Given the description of an element on the screen output the (x, y) to click on. 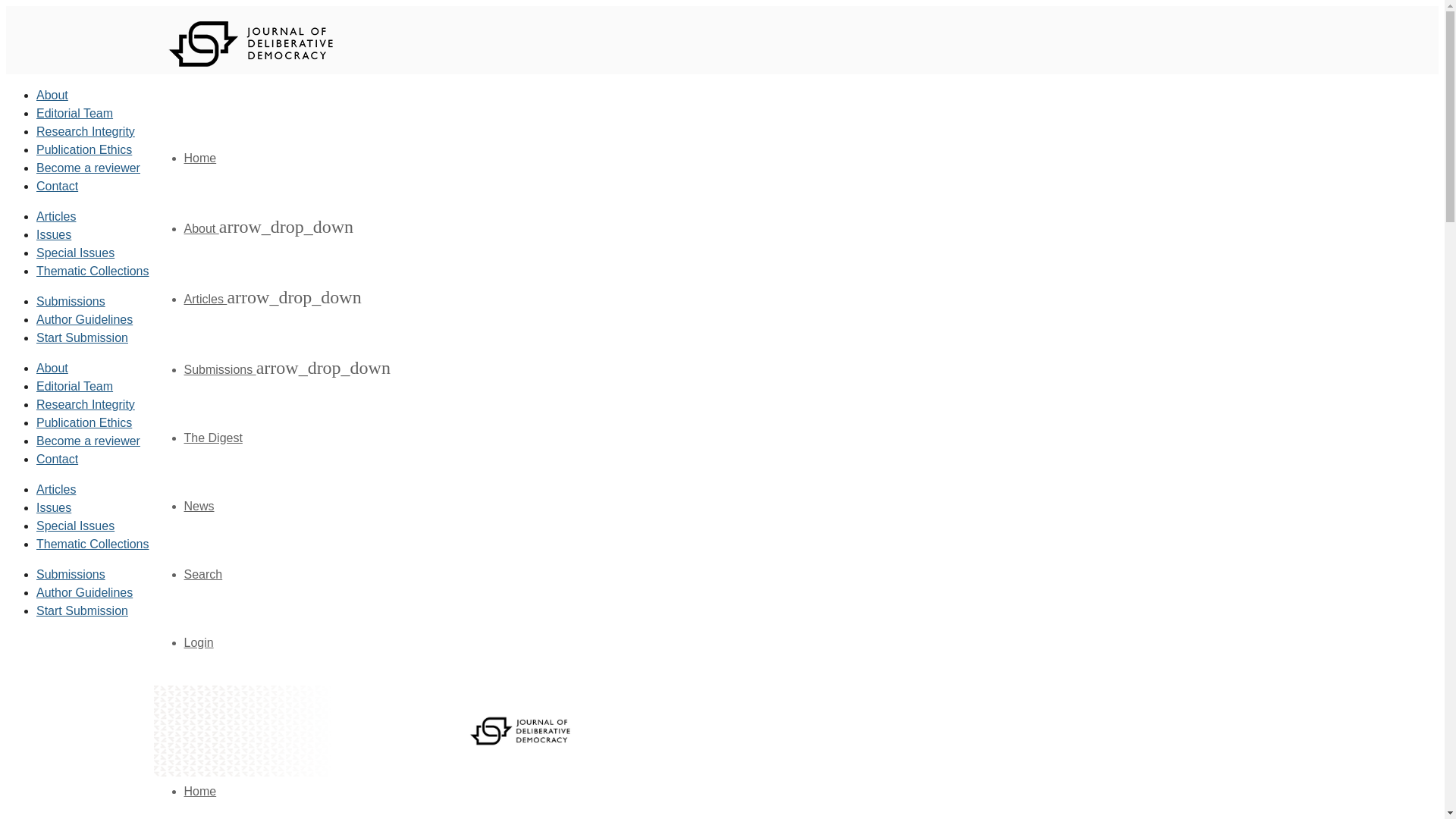
Author Guidelines (84, 318)
Issues (53, 234)
Contact (57, 185)
Publication Ethics (84, 149)
Thematic Collections (92, 270)
Search (202, 574)
News (198, 505)
The Digest (212, 437)
Editorial Team (74, 386)
Login (197, 642)
